Given the description of an element on the screen output the (x, y) to click on. 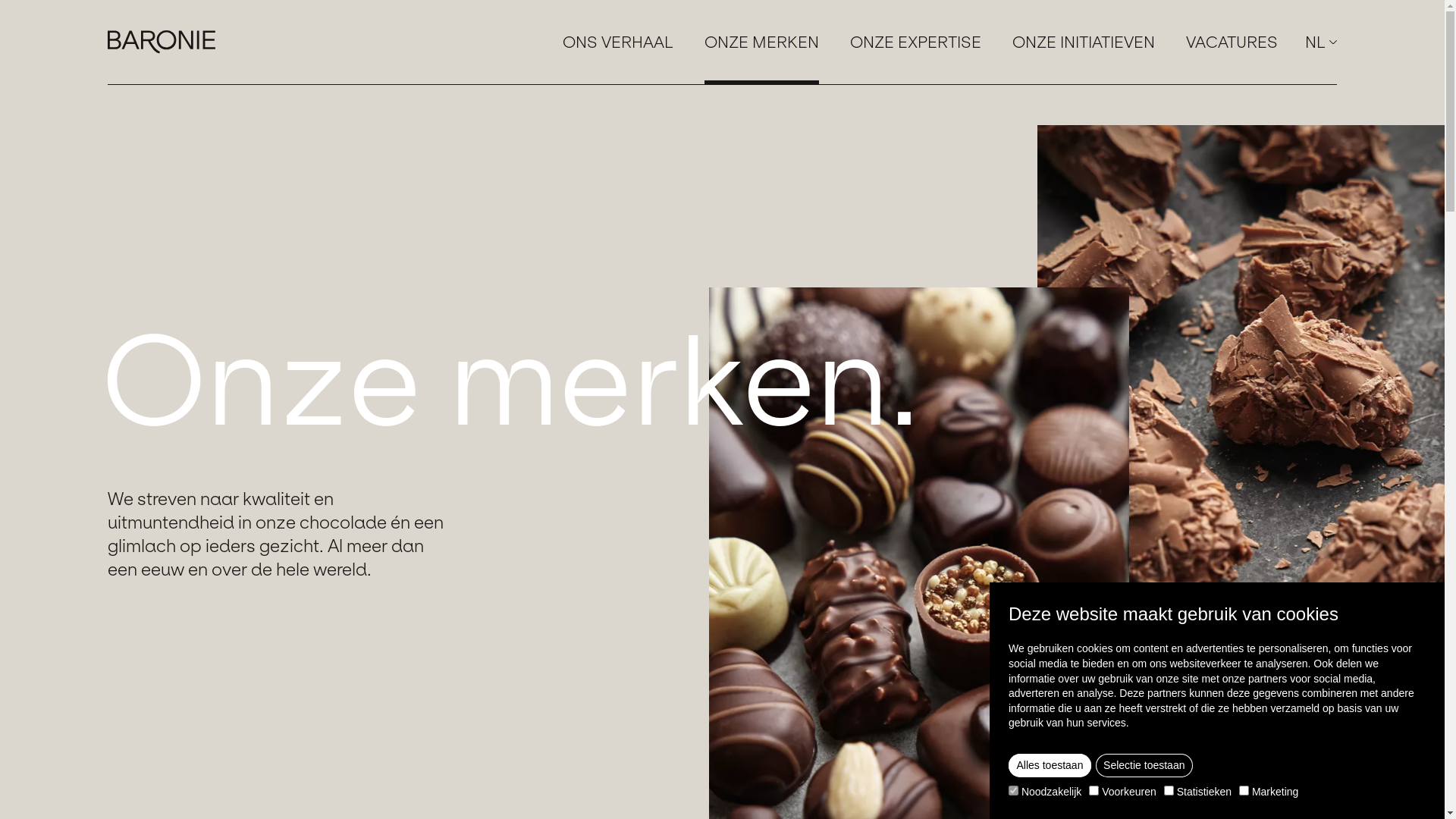
Alles toestaan Element type: text (1049, 765)
ONZE INITIATIEVEN Element type: text (1083, 42)
ONZE EXPERTISE Element type: text (915, 42)
Skip to main content Element type: text (0, 0)
ONZE MERKEN Element type: text (761, 42)
Selectie toestaan Element type: text (1143, 765)
ONS VERHAAL Element type: text (617, 42)
VACATURES Element type: text (1231, 42)
